Given the description of an element on the screen output the (x, y) to click on. 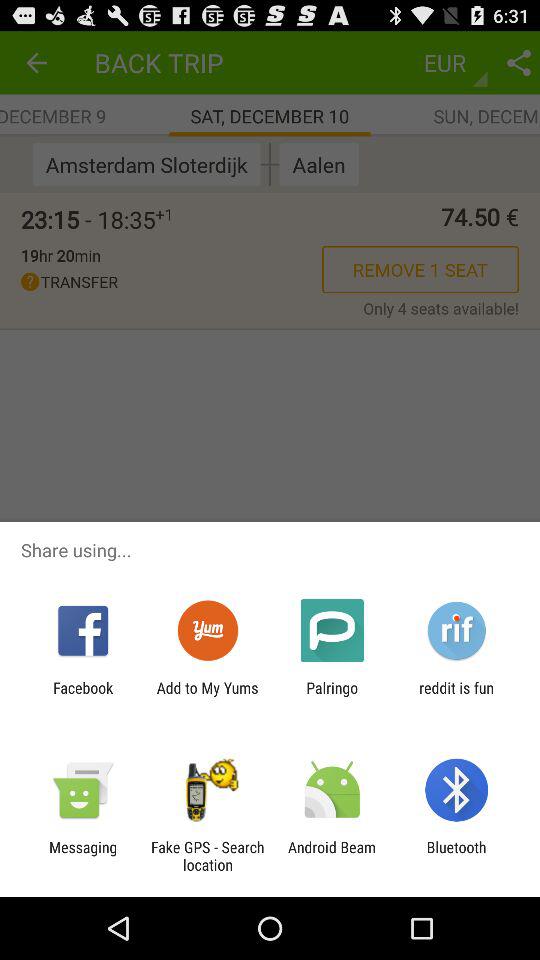
turn off app next to add to my app (83, 696)
